Given the description of an element on the screen output the (x, y) to click on. 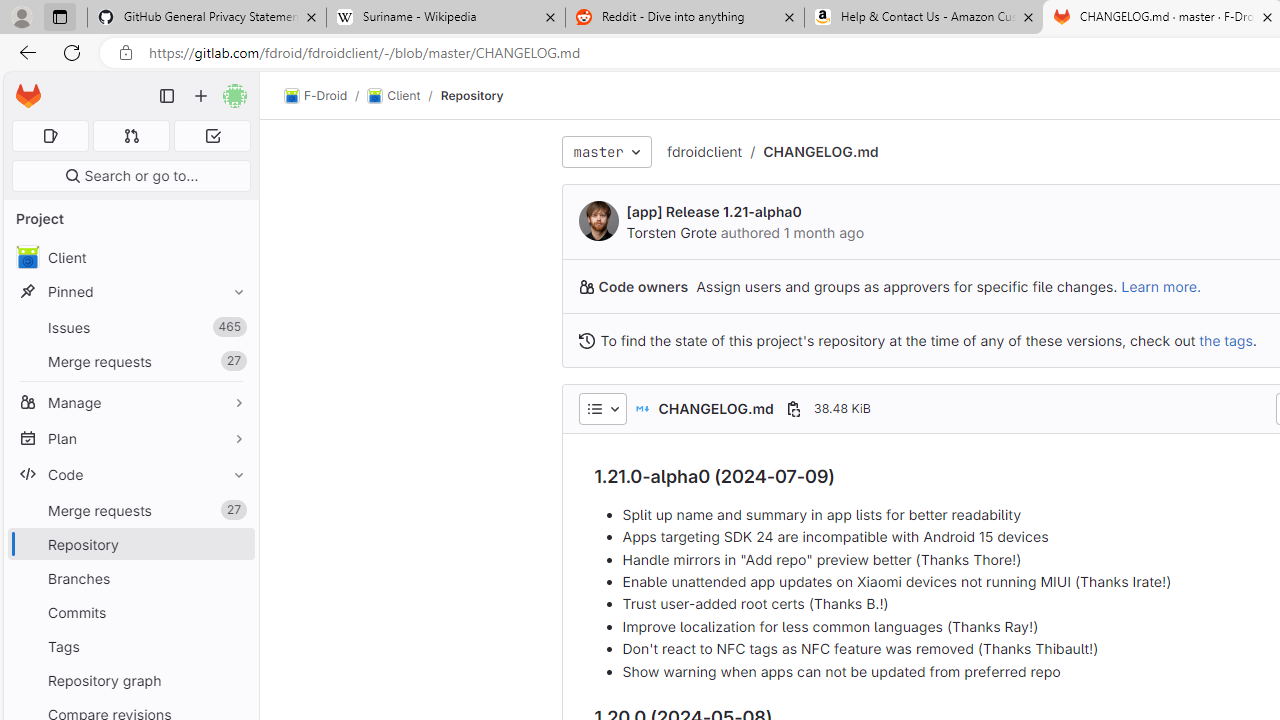
Issues 465 (130, 327)
Tags (130, 646)
Primary navigation sidebar (167, 96)
Merge requests27 (130, 510)
Code (130, 474)
